Given the description of an element on the screen output the (x, y) to click on. 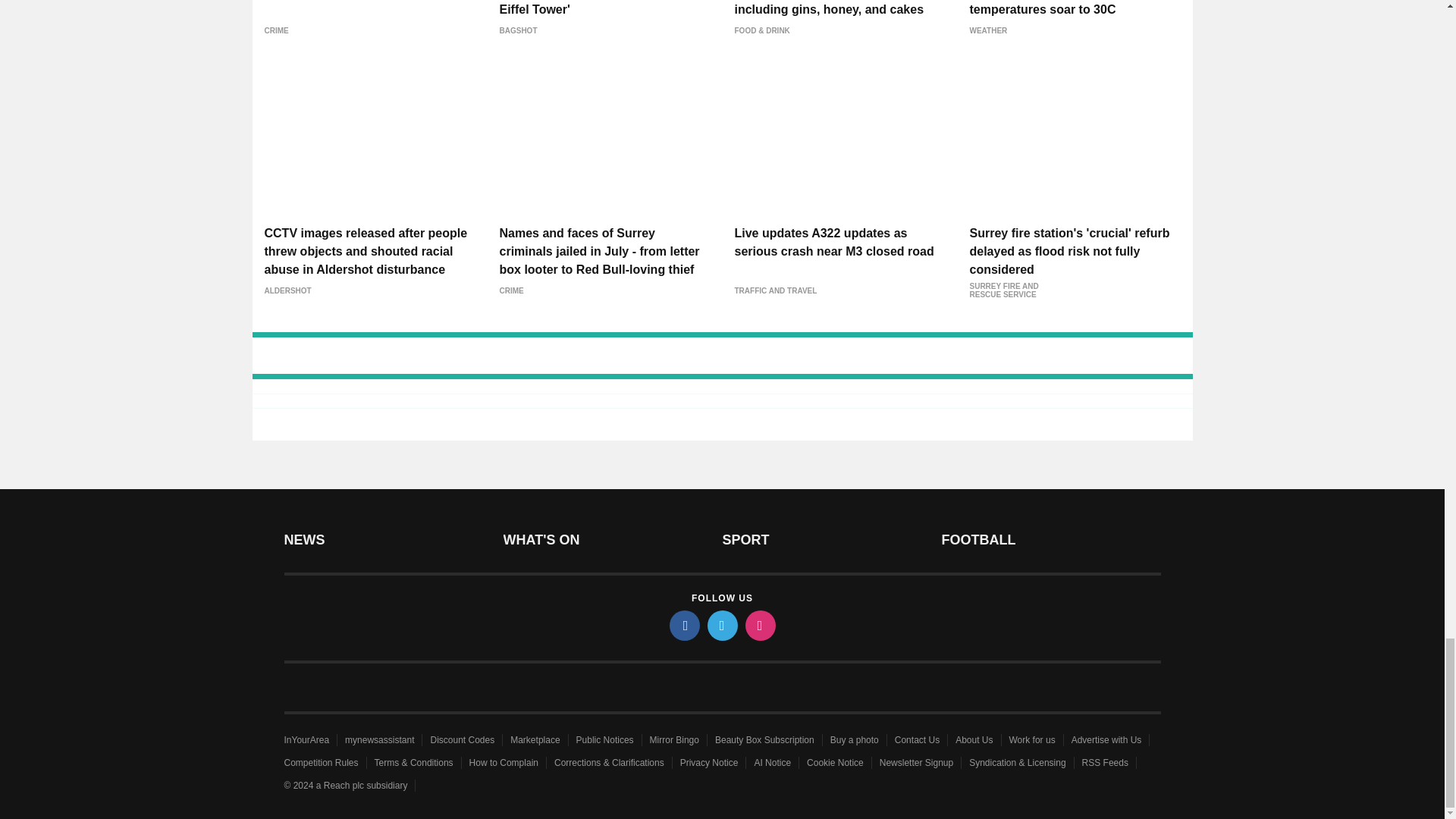
instagram (759, 625)
facebook (683, 625)
twitter (721, 625)
